Given the description of an element on the screen output the (x, y) to click on. 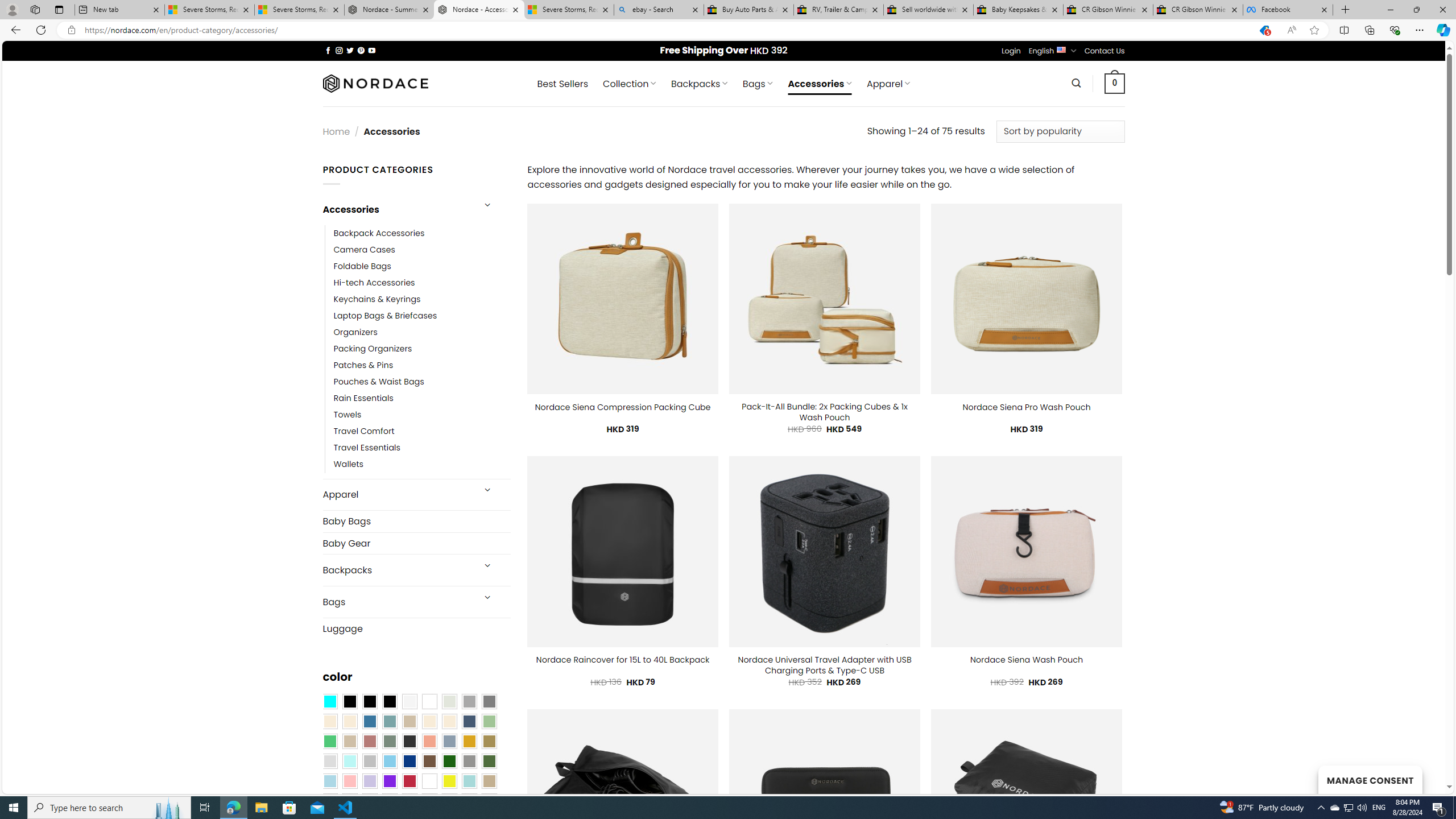
Search (1076, 83)
Hale Navy (468, 721)
Light Taupe (349, 741)
Gray (468, 761)
Follow on Twitter (349, 49)
Pouches & Waist Bags (378, 381)
Laptop Bags & Briefcases (384, 316)
New tab (118, 9)
Hi-tech Accessories (422, 282)
Green (488, 761)
Caramel (429, 721)
Organizers (422, 332)
Wallets (422, 464)
